Given the description of an element on the screen output the (x, y) to click on. 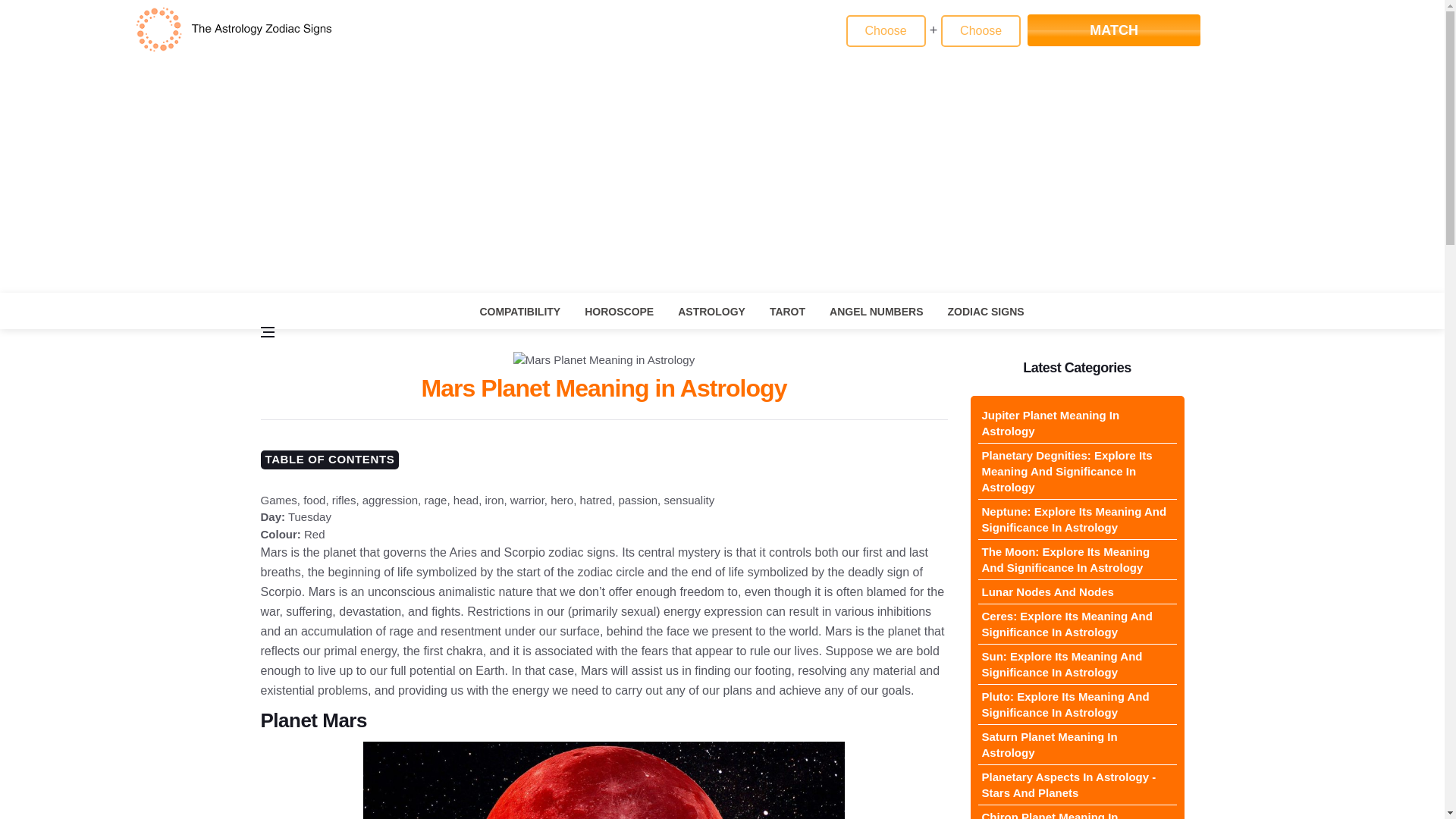
Neptune: Explore Its Meaning And Significance In Astrology (1077, 519)
Ceres: Explore Its Meaning And Significance In Astrology (1077, 624)
TAROT (786, 311)
Sun: Explore Its Meaning And Significance In Astrology (1077, 664)
COMPATIBILITY (519, 311)
The Moon: Explore Its Meaning And Significance In Astrology (1077, 559)
ANGEL NUMBERS (875, 311)
Planetary Aspects In Astrology - Stars And Planets (1077, 784)
Saturn Planet Meaning In Astrology (1077, 744)
TABLE OF CONTENTS (329, 459)
